Given the description of an element on the screen output the (x, y) to click on. 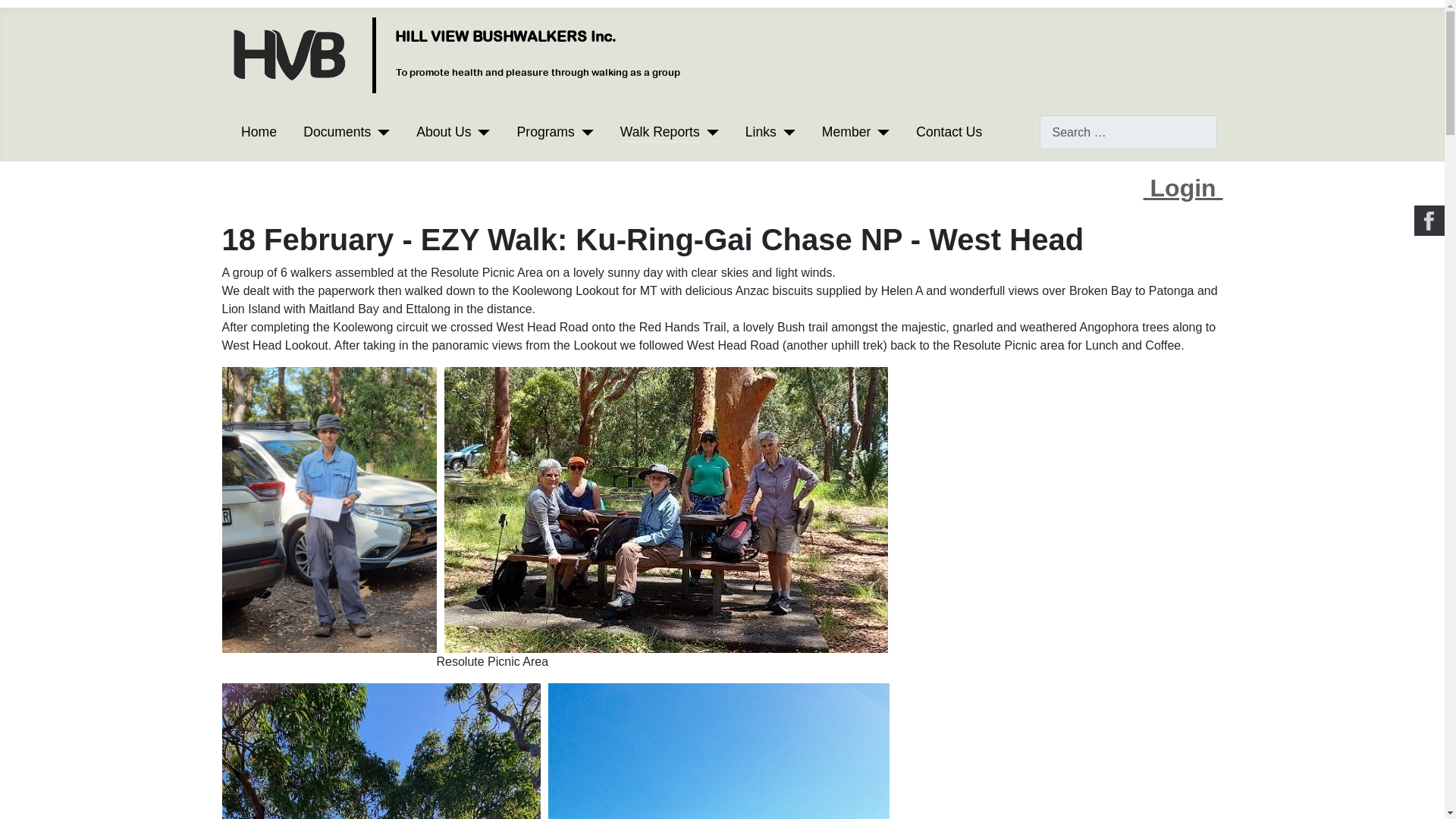
About Us (443, 131)
Links (769, 131)
Home (258, 131)
Programs (555, 131)
Walk Reports (660, 131)
Documents (346, 131)
